Given the description of an element on the screen output the (x, y) to click on. 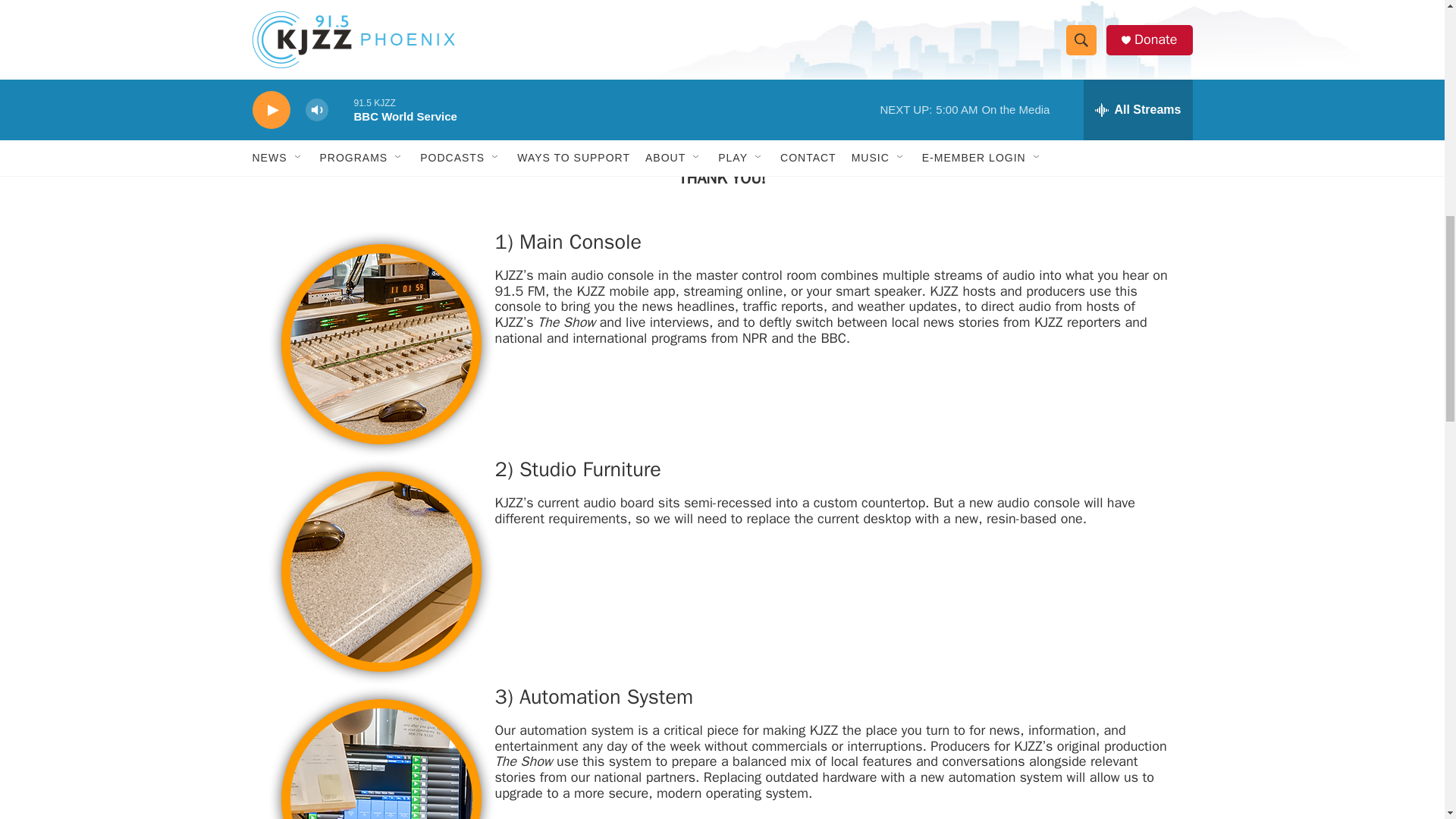
Gray countertop with rounded edges (380, 571)
Console board with audio sliders (380, 343)
Computer screen with multiple elements and windows (380, 752)
KJZZ main studio with pieces of equipment highlighted (645, 55)
